Given the description of an element on the screen output the (x, y) to click on. 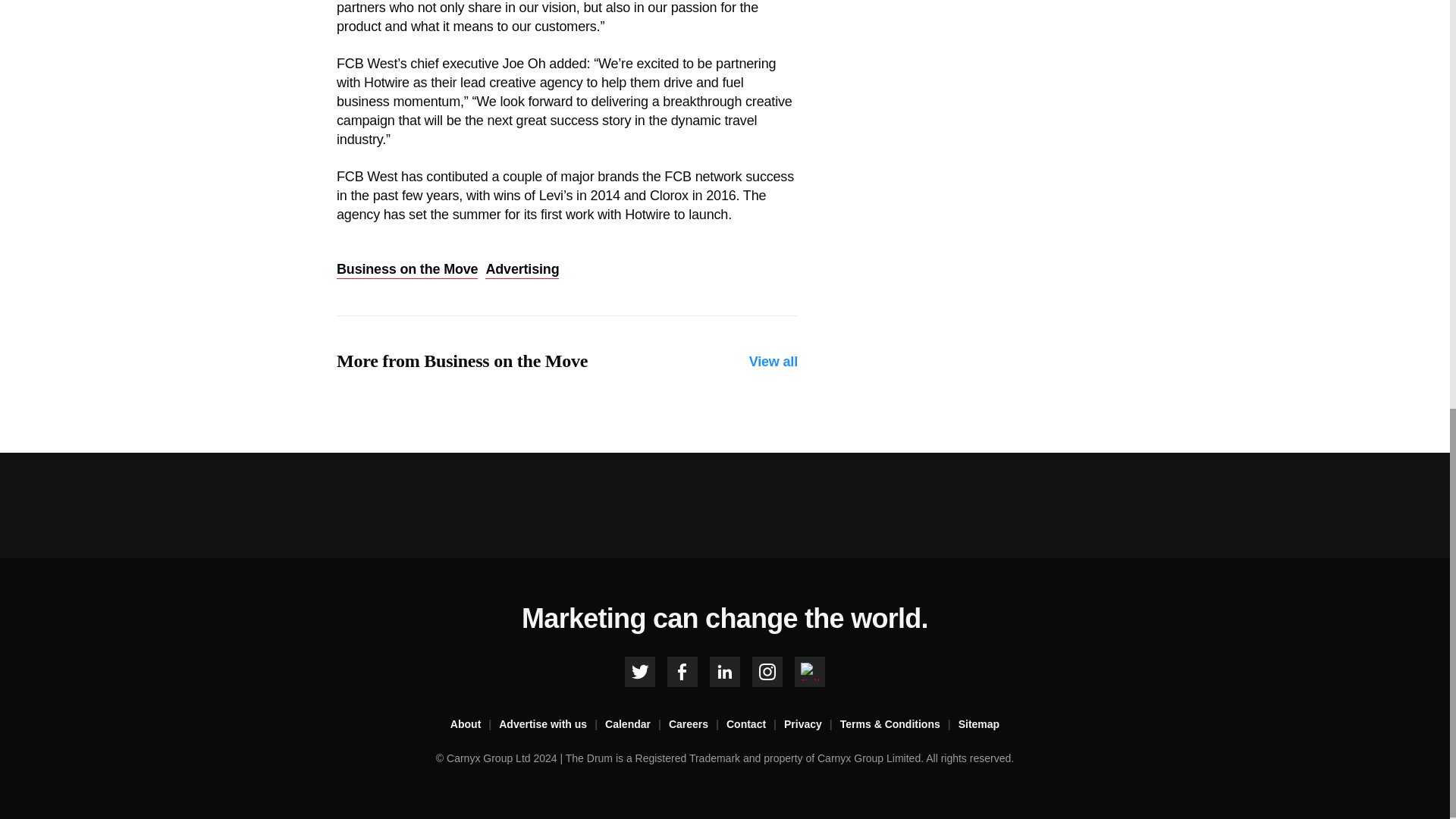
Business on the Move (406, 270)
Calendar (636, 724)
Careers (697, 724)
Advertise with us (552, 724)
View all (773, 361)
Contact (755, 724)
Advertising (521, 270)
About (474, 724)
Privacy (812, 724)
